Given the description of an element on the screen output the (x, y) to click on. 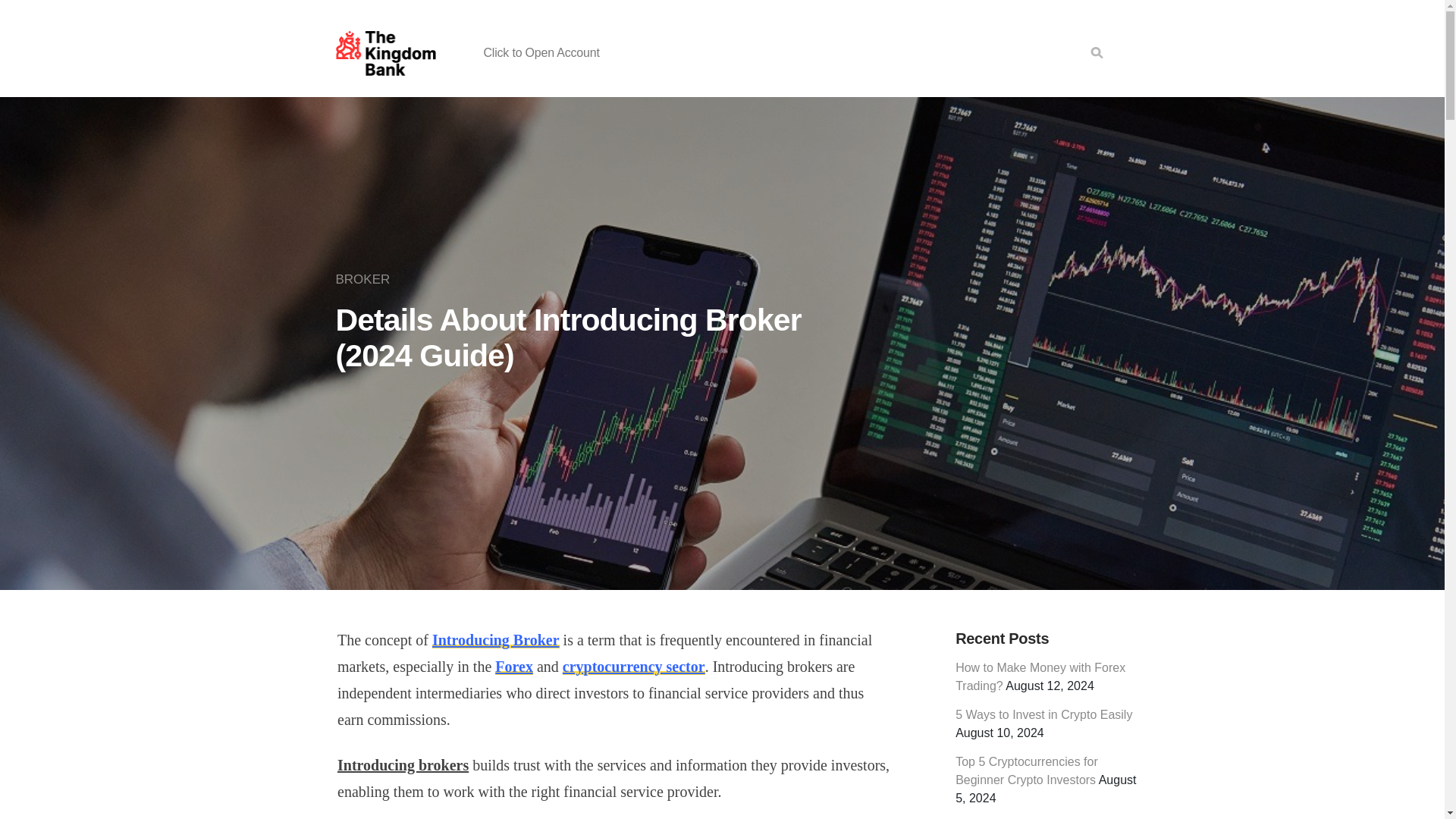
cryptocurrency sector (633, 666)
Introducing Broker (495, 639)
Click to Open Account (541, 51)
How to Make Money with Forex Trading? (1040, 676)
Top 5 Cryptocurrencies for Beginner Crypto Investors (1026, 770)
Broker (365, 278)
BROKER (365, 278)
5 Ways to Invest in Crypto Easily (1043, 714)
Forex (513, 666)
